Given the description of an element on the screen output the (x, y) to click on. 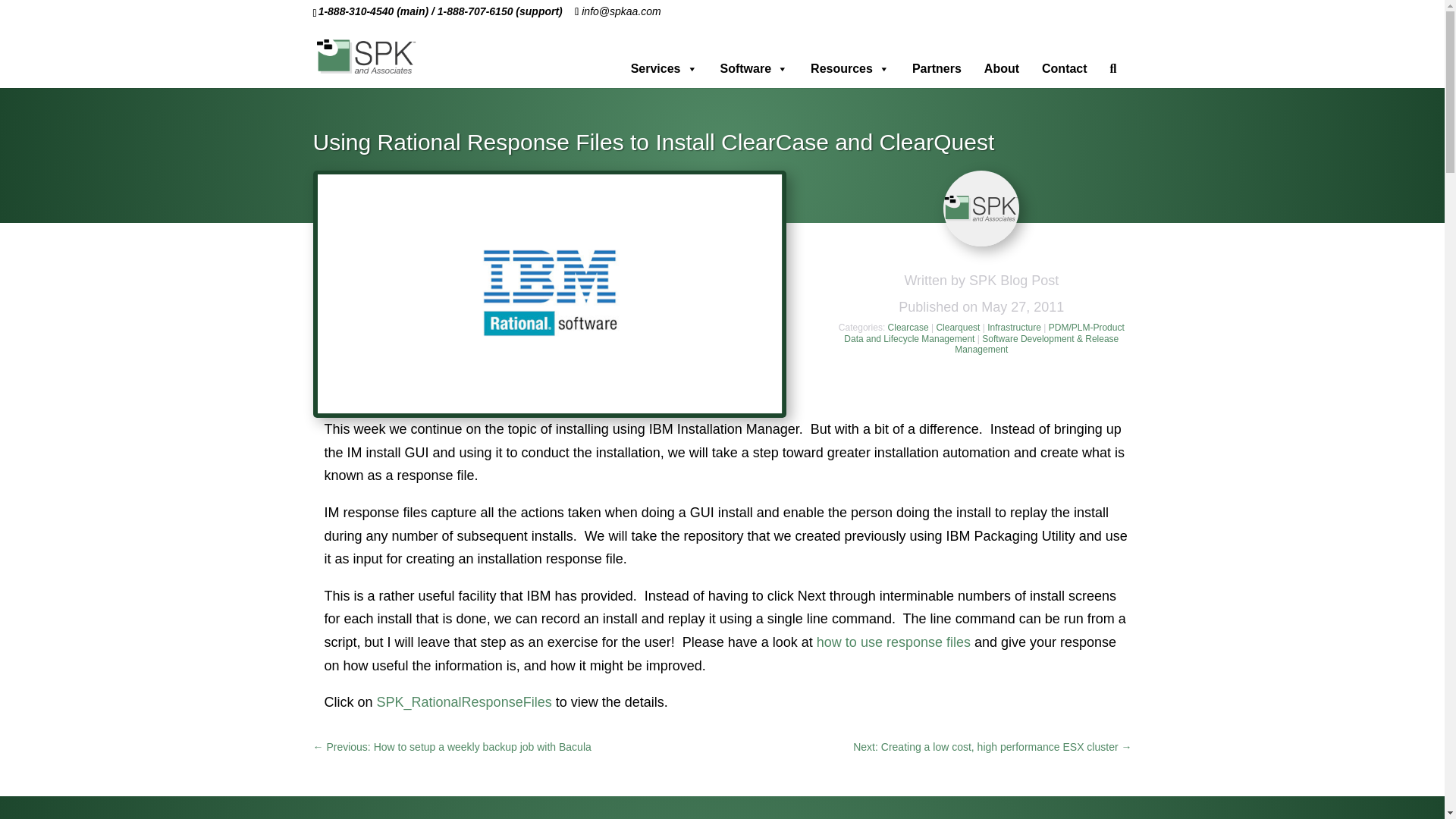
Software (754, 68)
Services (663, 68)
